Given the description of an element on the screen output the (x, y) to click on. 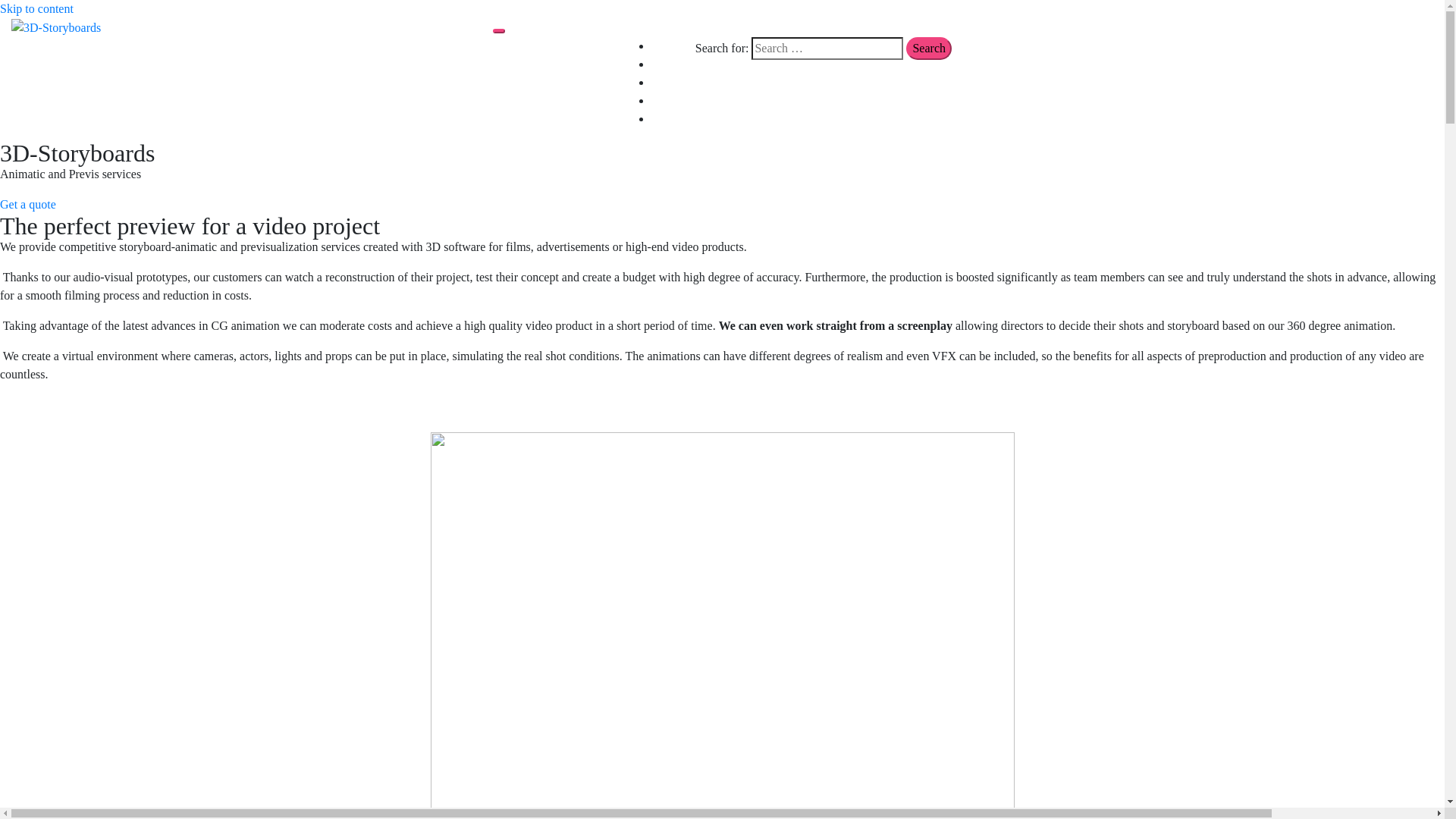
Get a quote Element type: text (28, 203)
Skip to content Element type: text (36, 8)
Search Element type: text (928, 48)
Toggle mobile menu Element type: text (498, 30)
360 Element type: text (660, 118)
Home Element type: text (665, 45)
Portfolio Element type: text (672, 81)
About us Element type: text (673, 63)
Contact Element type: text (670, 100)
